Given the description of an element on the screen output the (x, y) to click on. 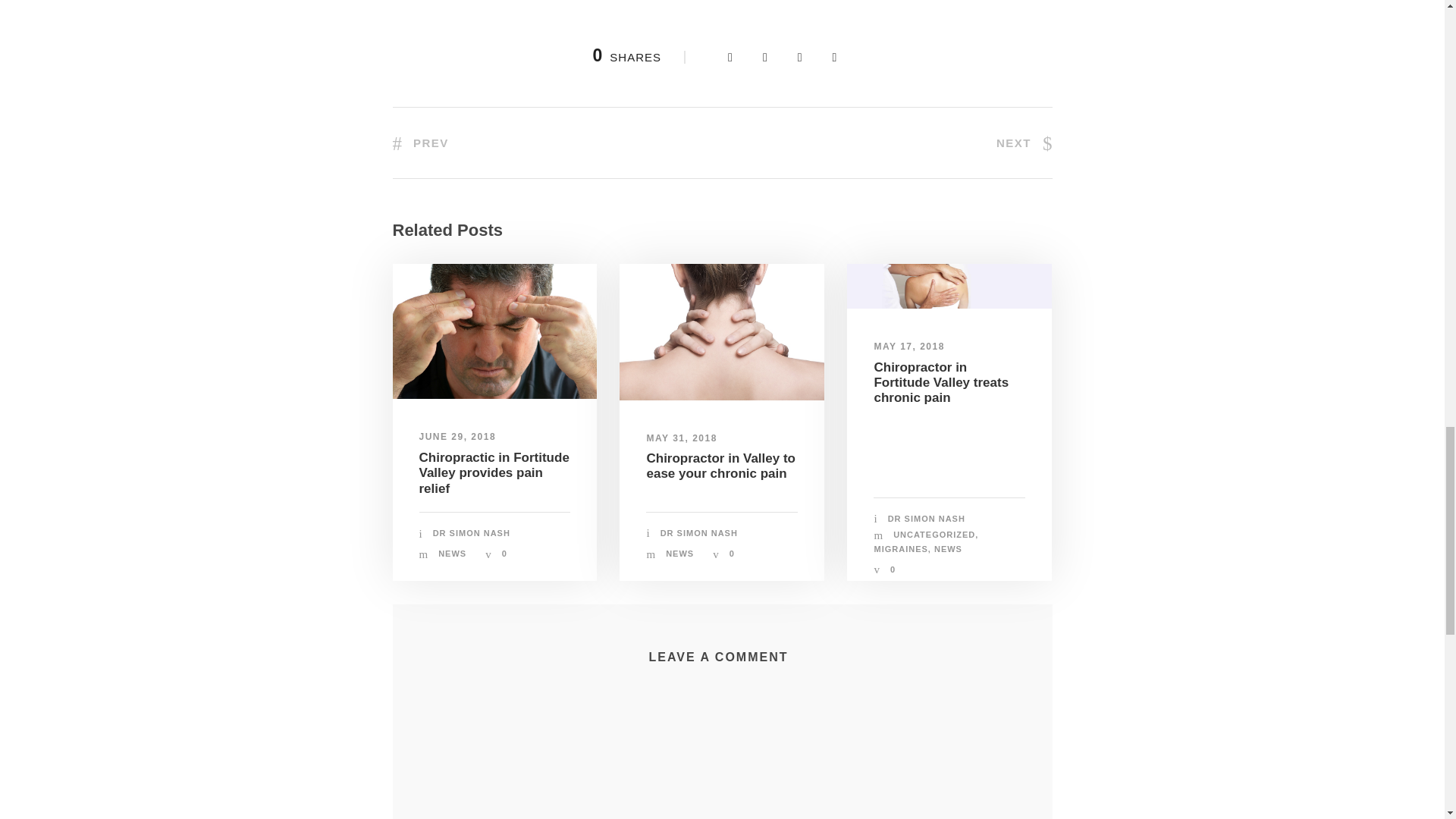
NEXT (1023, 142)
PREV (420, 142)
NEWS (451, 552)
JUNE 29, 2018 (457, 436)
Comment Form (721, 757)
Chiropractic in Fortitude Valley provides pain relief (494, 473)
MAY 31, 2018 (681, 438)
Chiropractor in Valley to ease your chronic pain (720, 465)
